Given the description of an element on the screen output the (x, y) to click on. 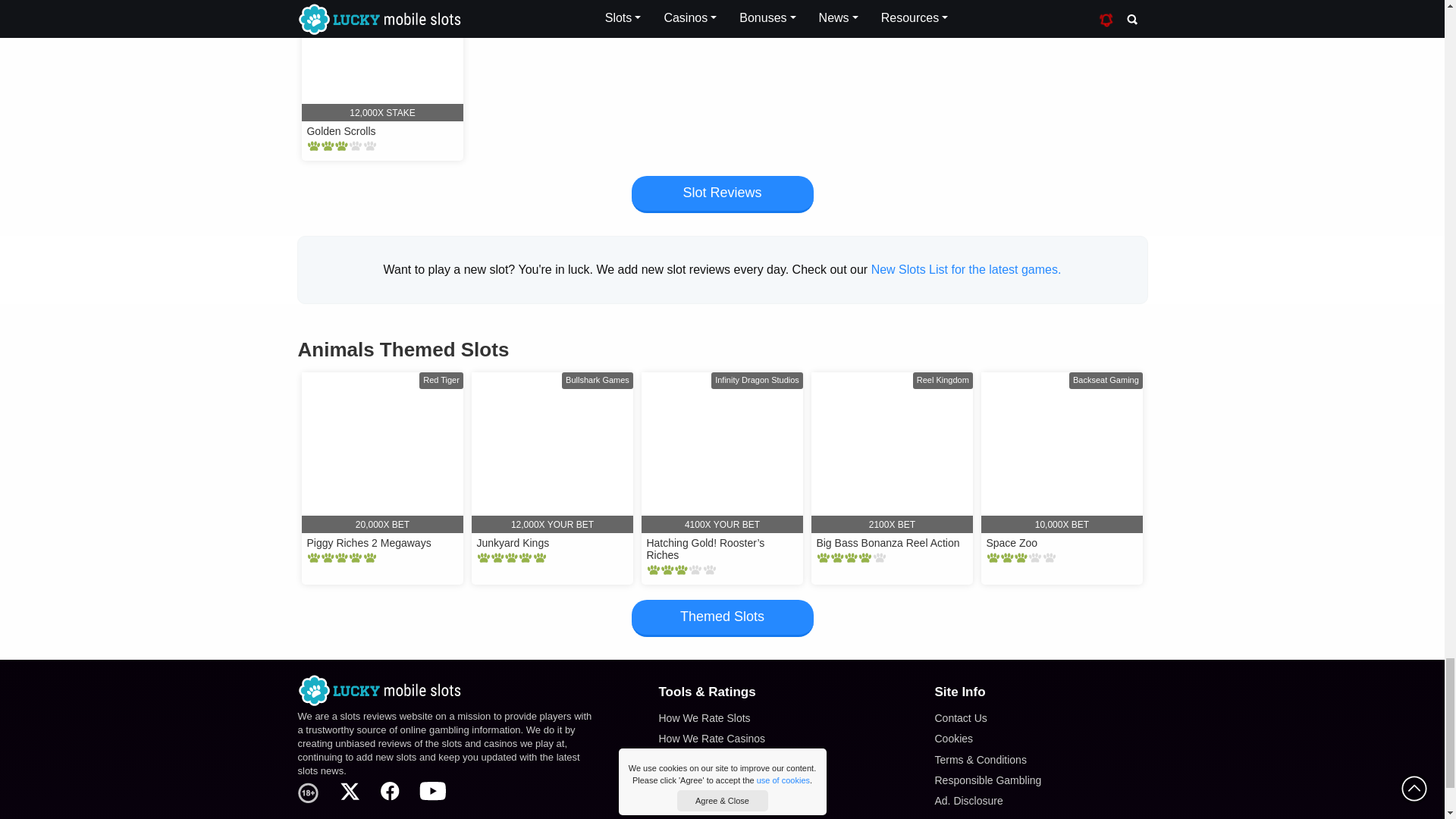
Home of Lucky Mobile Slots (445, 690)
